Given the description of an element on the screen output the (x, y) to click on. 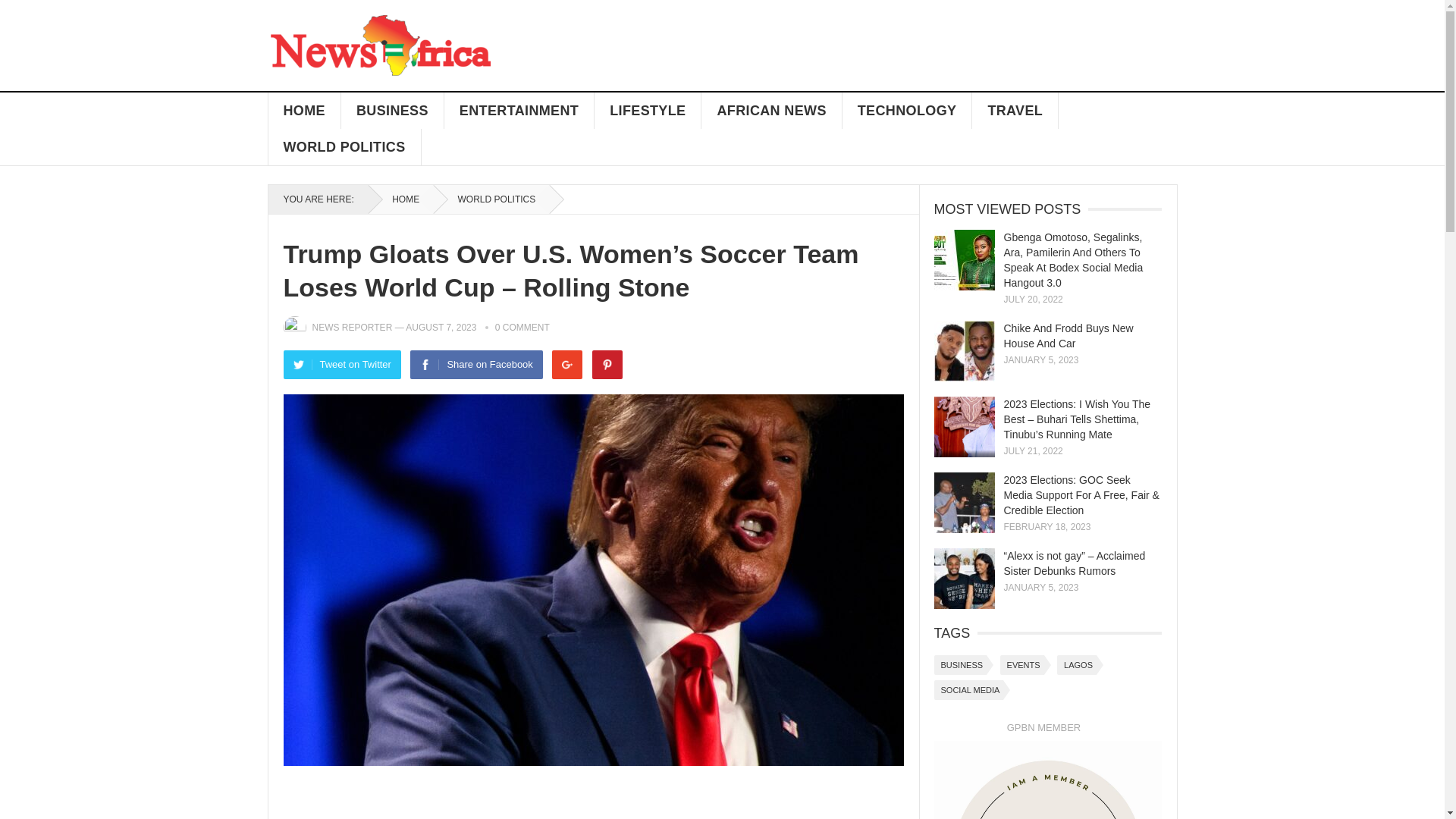
Pinterest (607, 364)
HOME (303, 110)
ENTERTAINMENT (519, 110)
View all posts in World Politics (491, 199)
WORLD POLITICS (344, 146)
HOME (400, 199)
Posts by News Reporter (353, 327)
TECHNOLOGY (907, 110)
0 COMMENT (522, 327)
AFRICAN NEWS (771, 110)
Tweet on Twitter (342, 364)
LIFESTYLE (647, 110)
BUSINESS (392, 110)
WORLD POLITICS (491, 199)
TRAVEL (1015, 110)
